Given the description of an element on the screen output the (x, y) to click on. 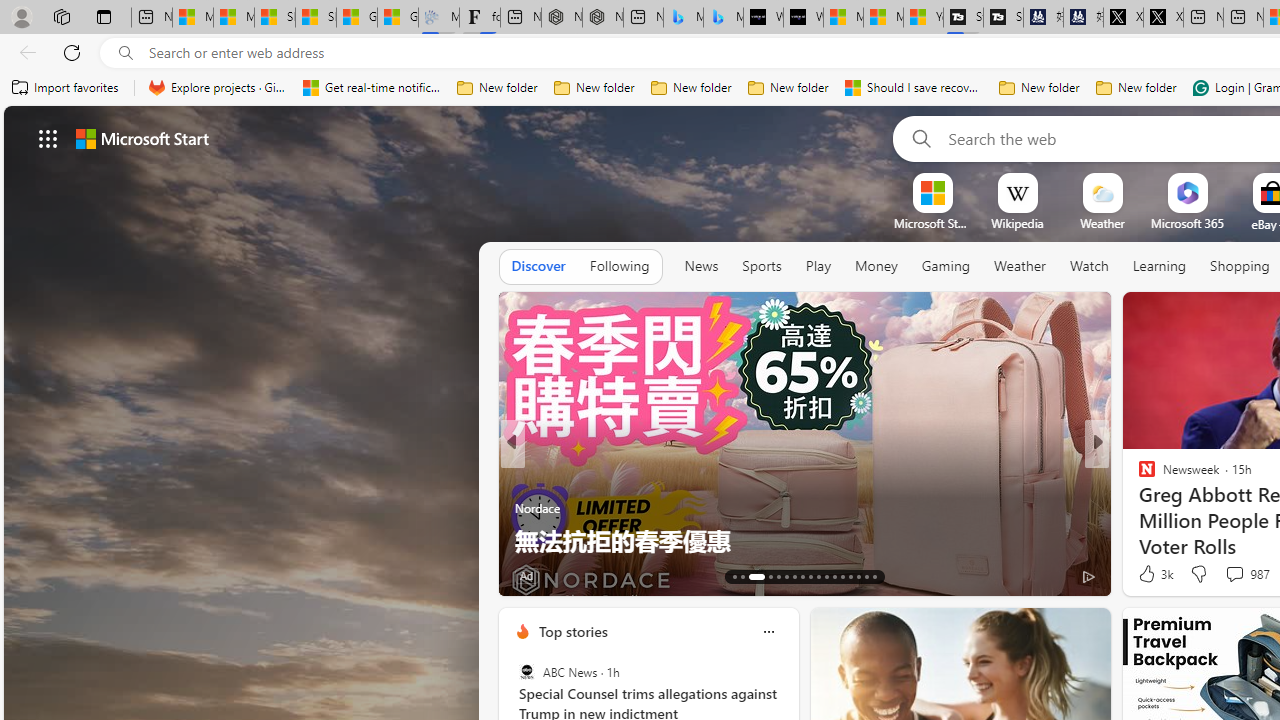
AutomationID: tab-13 (733, 576)
AutomationID: tab-14 (742, 576)
View comments 174 Comment (1234, 575)
Newsweek (1138, 475)
AutomationID: tab-22 (818, 576)
View comments 18 Comment (1234, 575)
